Given the description of an element on the screen output the (x, y) to click on. 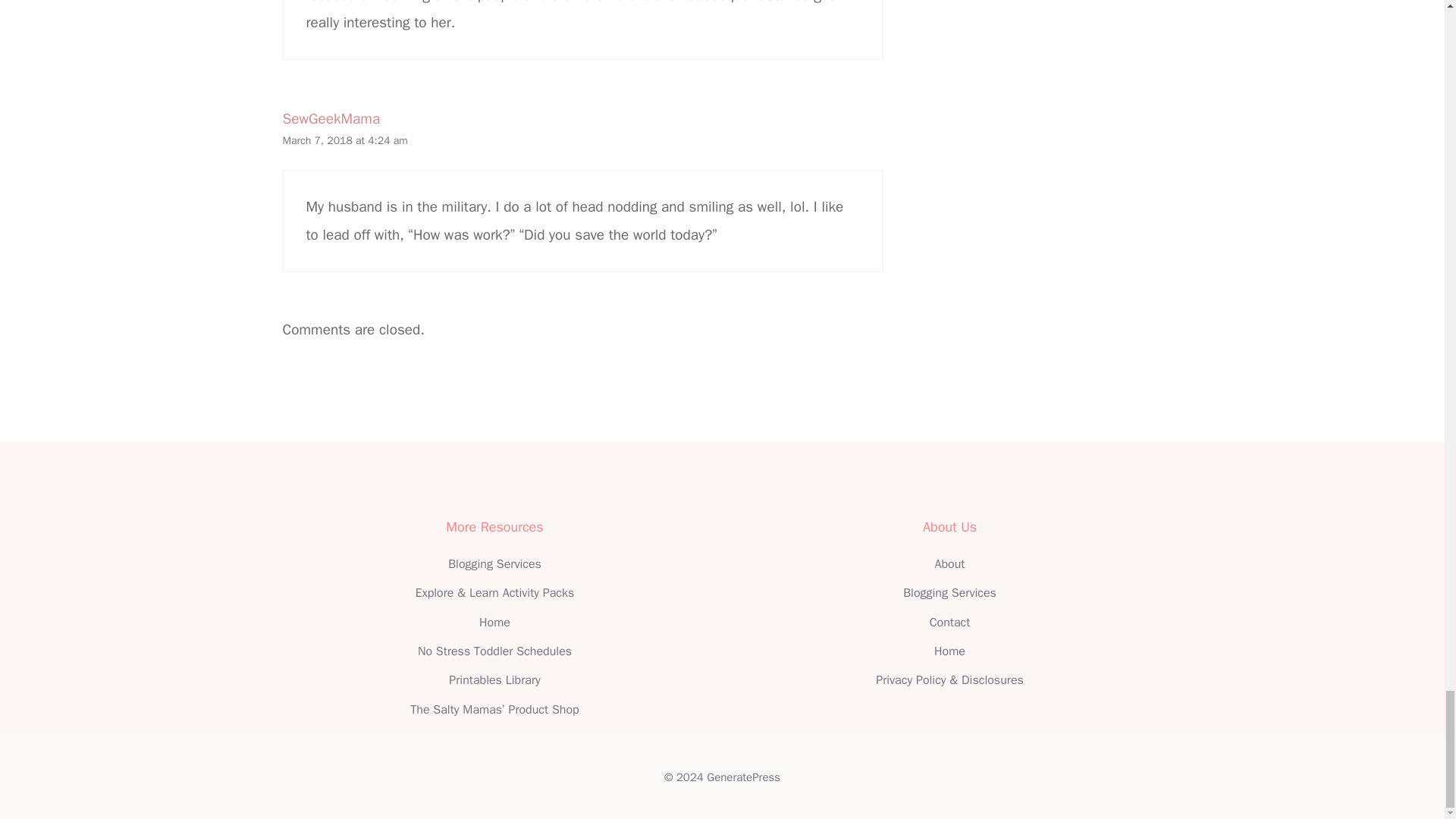
No Stress Toddler Schedules (494, 651)
Home (495, 622)
Blogging Services (494, 563)
March 7, 2018 at 4:24 am (344, 140)
Printables Library (494, 679)
SewGeekMama (331, 118)
